Given the description of an element on the screen output the (x, y) to click on. 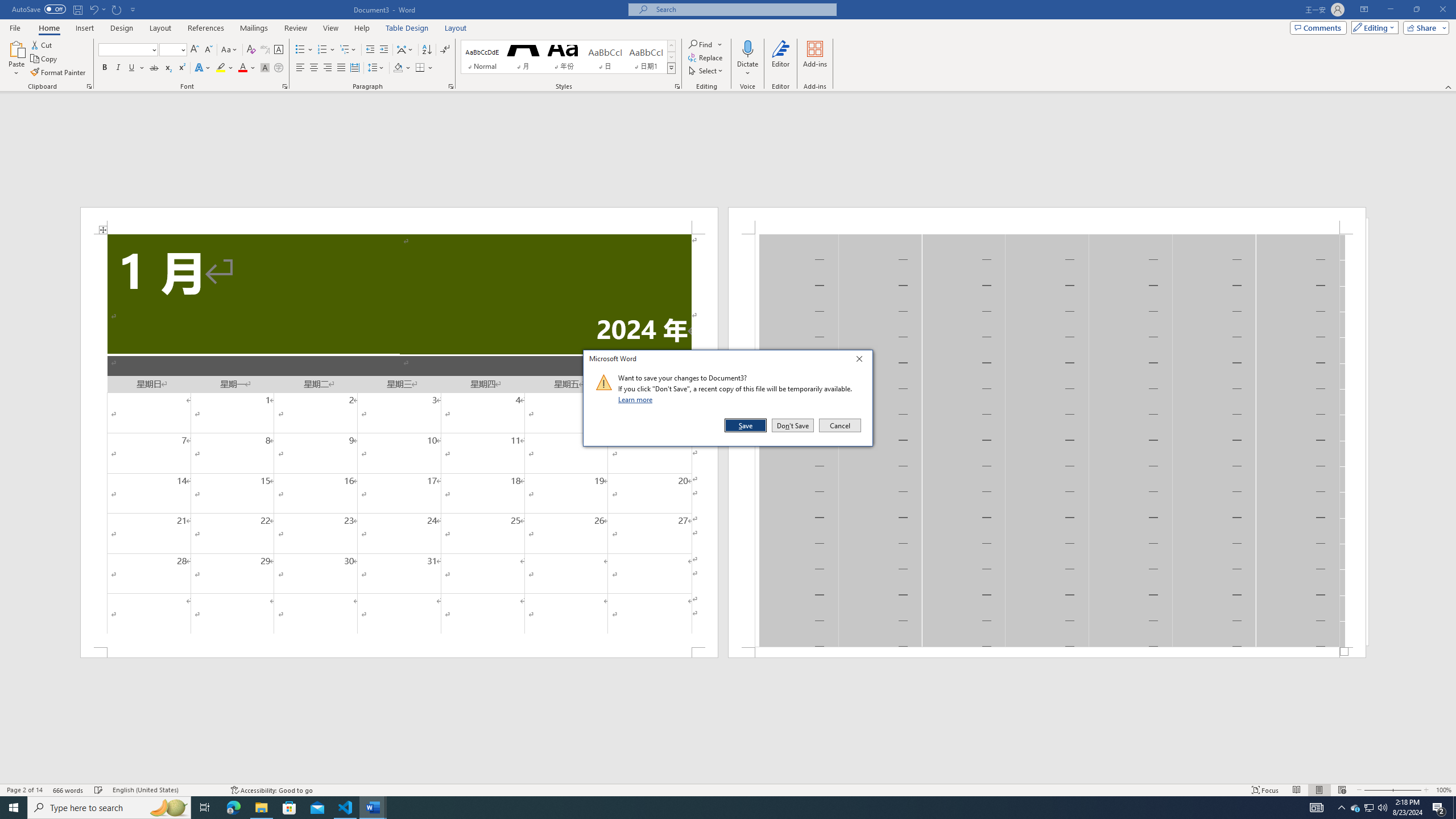
Align Left (300, 67)
Font... (285, 85)
Character Shading (264, 67)
Grow Font (193, 49)
Copy (45, 58)
Strikethrough (154, 67)
AutomationID: QuickStylesGallery (568, 56)
